Given the description of an element on the screen output the (x, y) to click on. 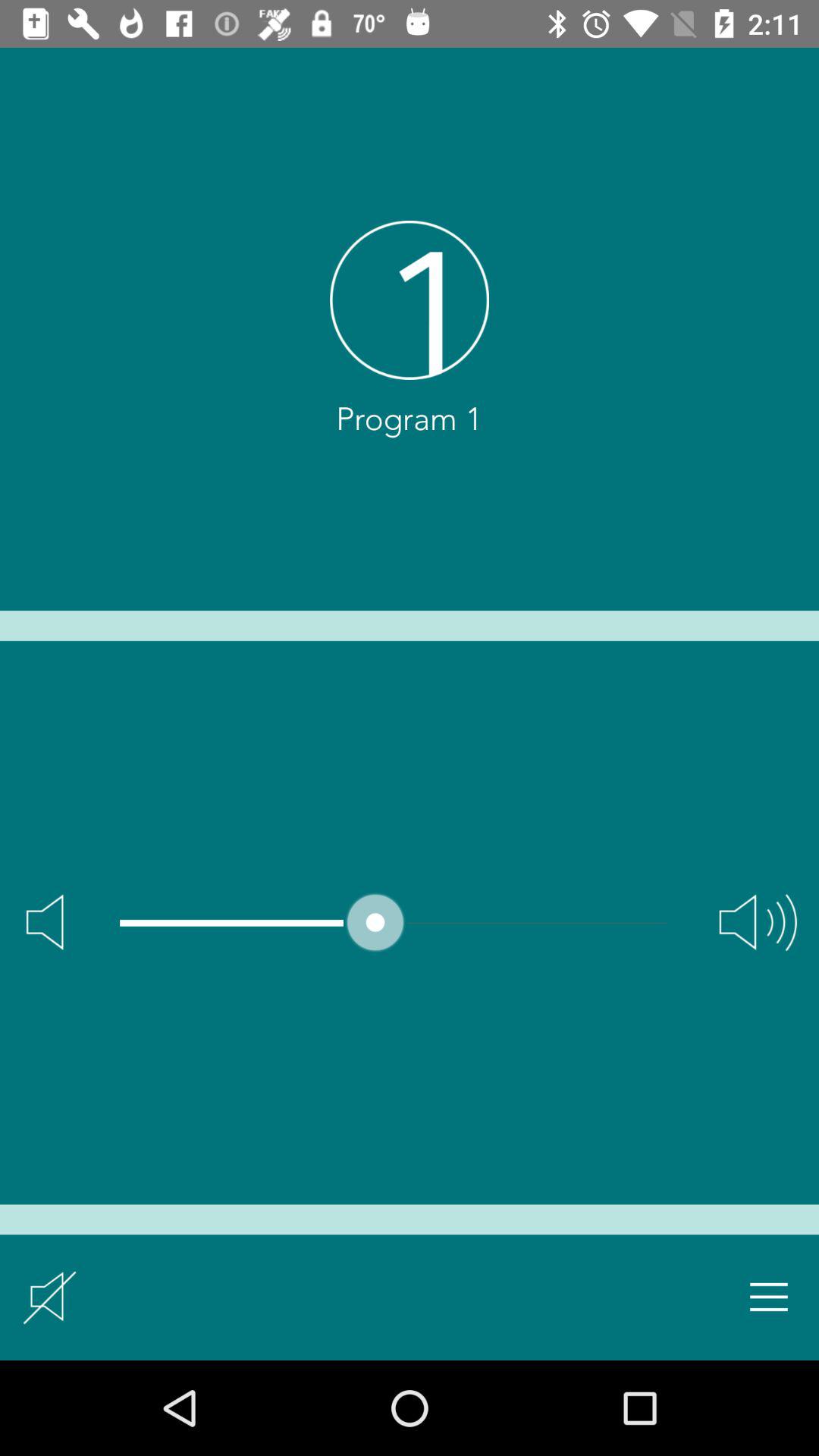
mute sound (49, 1297)
